Given the description of an element on the screen output the (x, y) to click on. 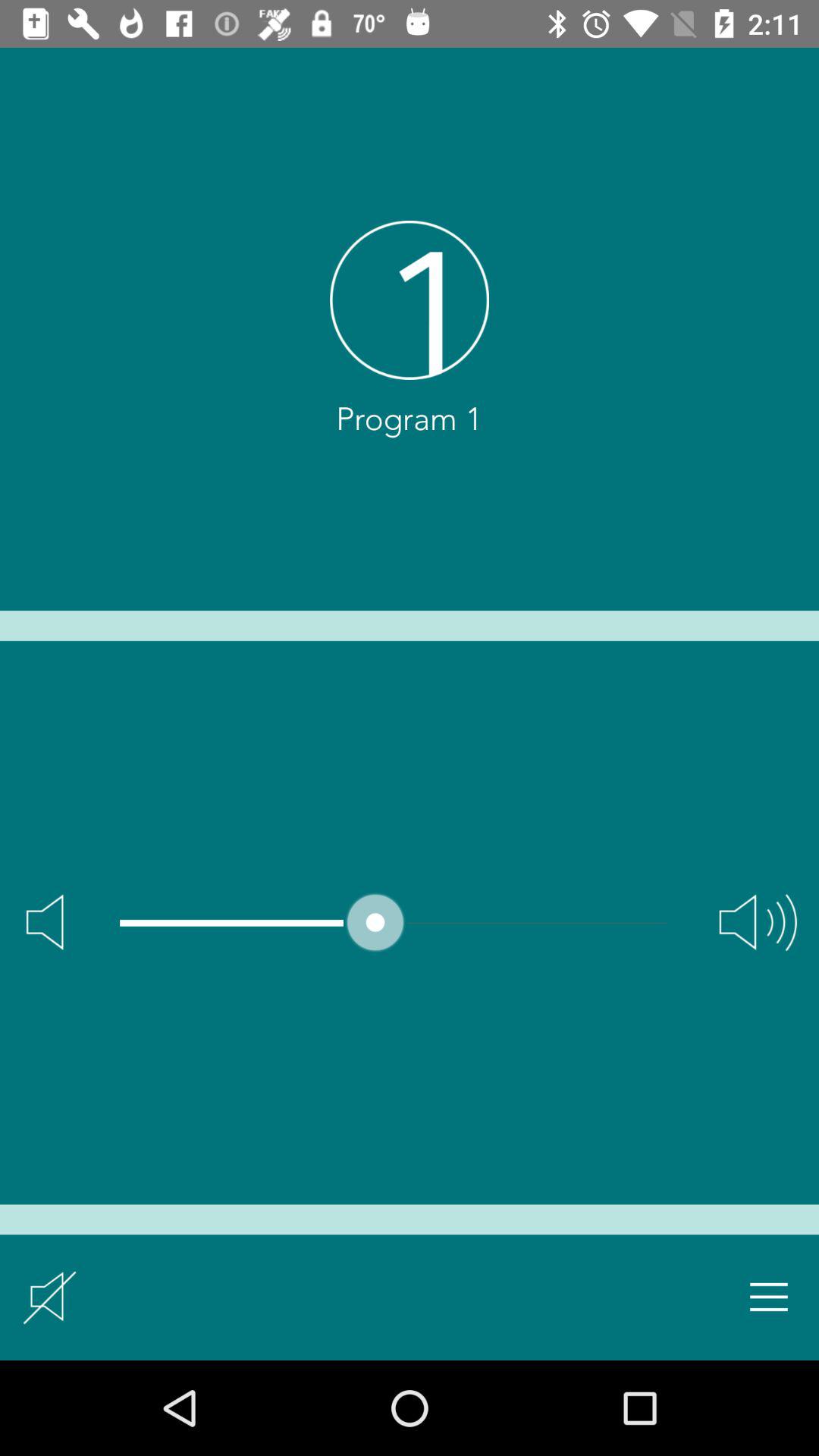
mute sound (49, 1297)
